Given the description of an element on the screen output the (x, y) to click on. 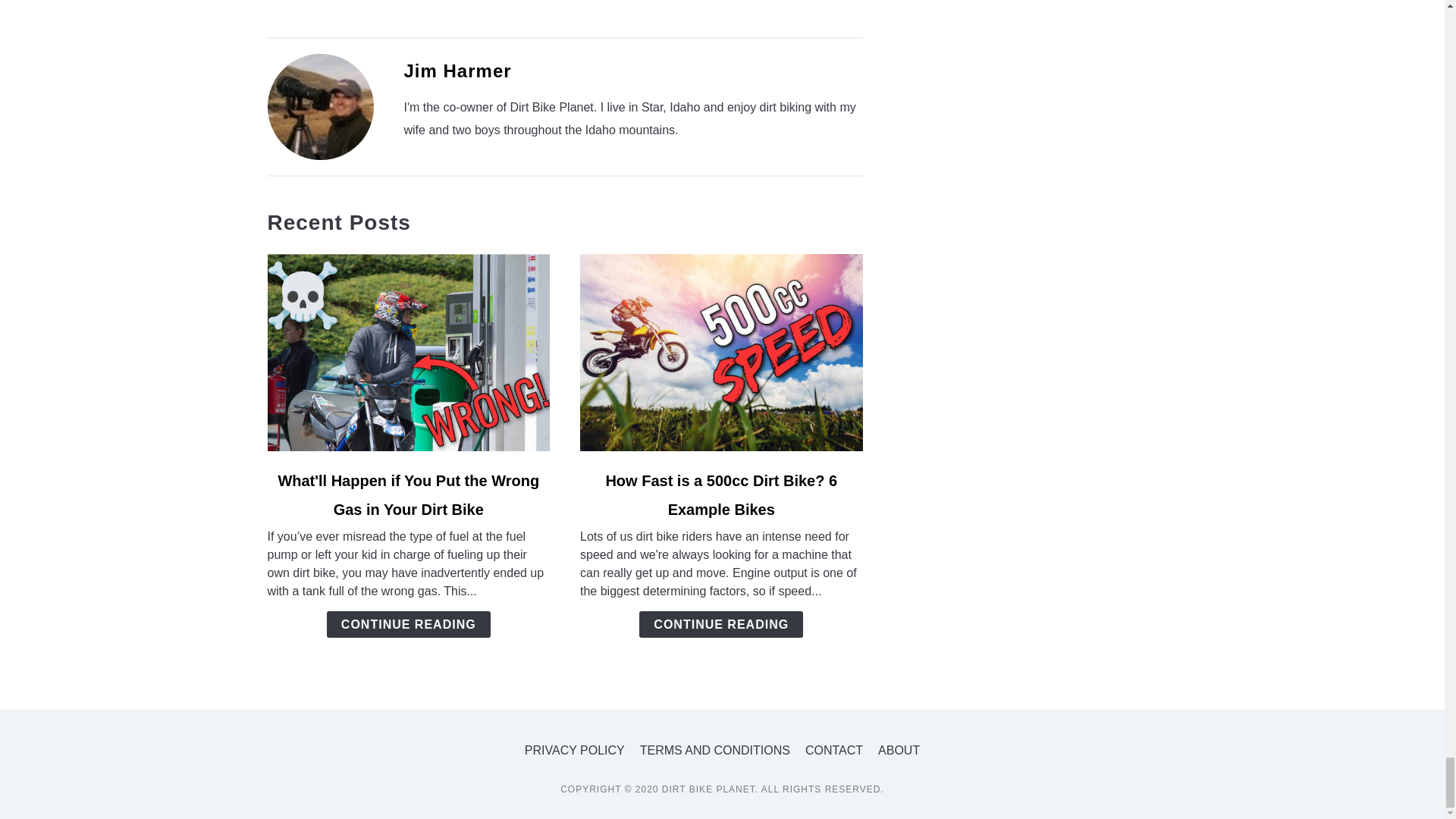
How Fast is a 500cc Dirt Bike? 6 Example Bikes (721, 494)
CONTACT (834, 749)
TERMS AND CONDITIONS (715, 749)
CONTINUE READING (721, 624)
CONTINUE READING (408, 624)
ABOUT (898, 749)
Jim Harmer (457, 70)
PRIVACY POLICY (574, 749)
link to How Fast is a 500cc Dirt Bike? 6 Example Bikes (721, 352)
